Given the description of an element on the screen output the (x, y) to click on. 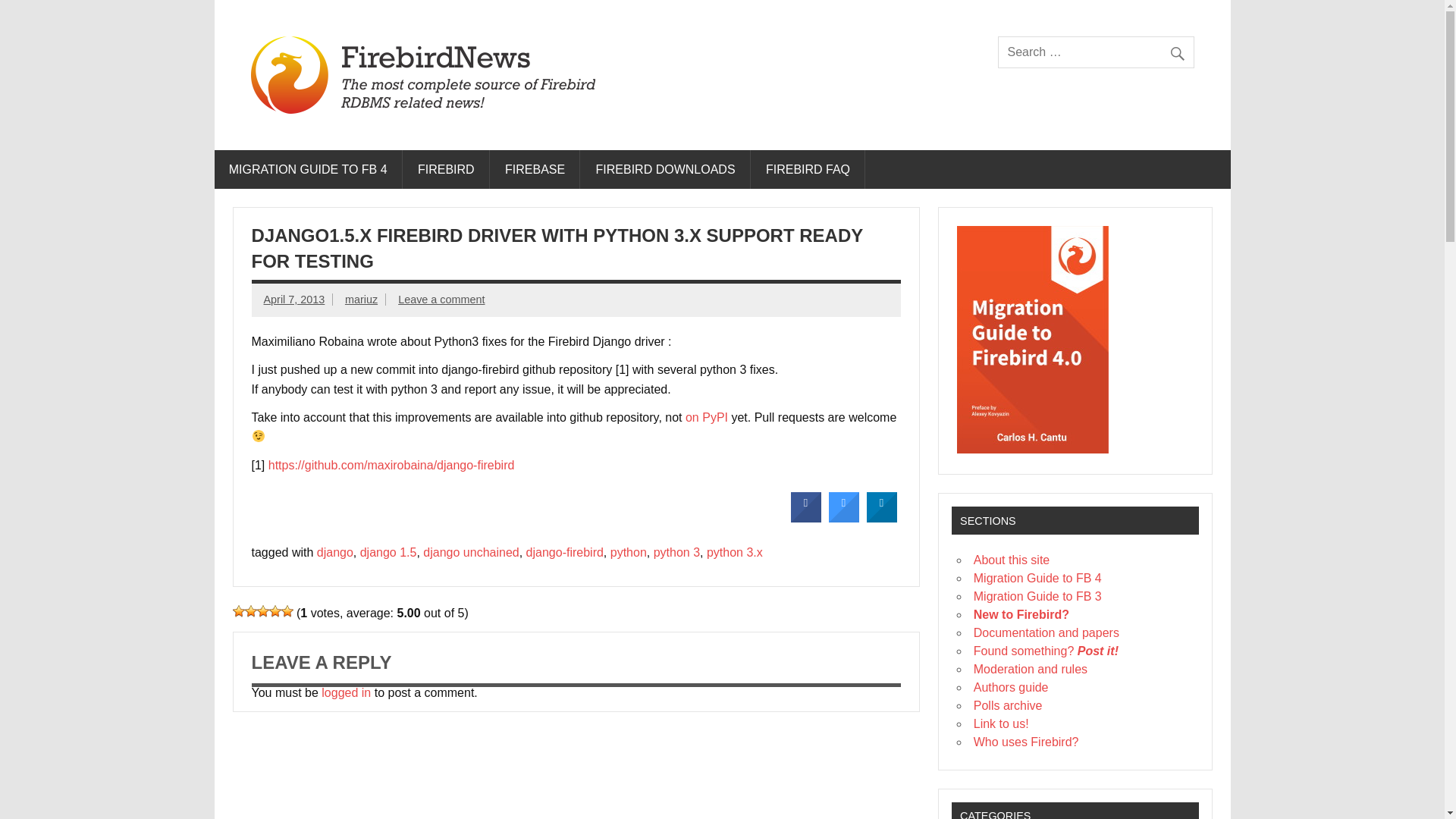
5 Stars (286, 611)
python (628, 552)
django-firebird (564, 552)
django 1.5 (387, 552)
Authors guide (1011, 686)
Link to us! (1001, 723)
django unchained (470, 552)
python 3.x (734, 552)
Share on Facebook (805, 517)
FIREBIRD FAQ (808, 169)
View all posts by mariuz (361, 299)
Leave a comment (440, 299)
Migration Guide to FB 4 (1038, 577)
python 3 (676, 552)
FIREBIRD (446, 169)
